Given the description of an element on the screen output the (x, y) to click on. 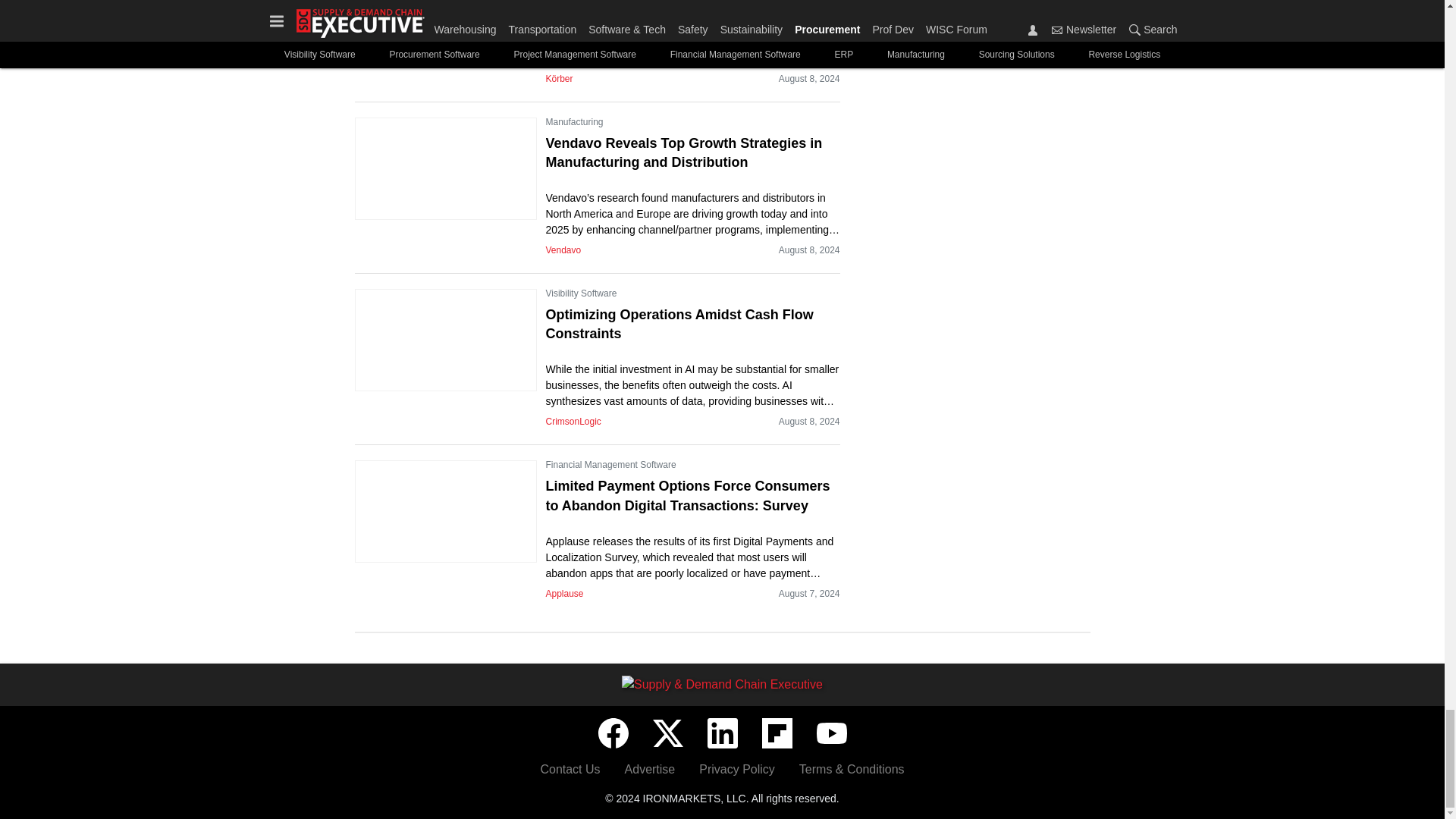
Flipboard icon (776, 733)
Twitter X icon (667, 733)
LinkedIn icon (721, 733)
YouTube icon (830, 733)
Facebook icon (611, 733)
